Given the description of an element on the screen output the (x, y) to click on. 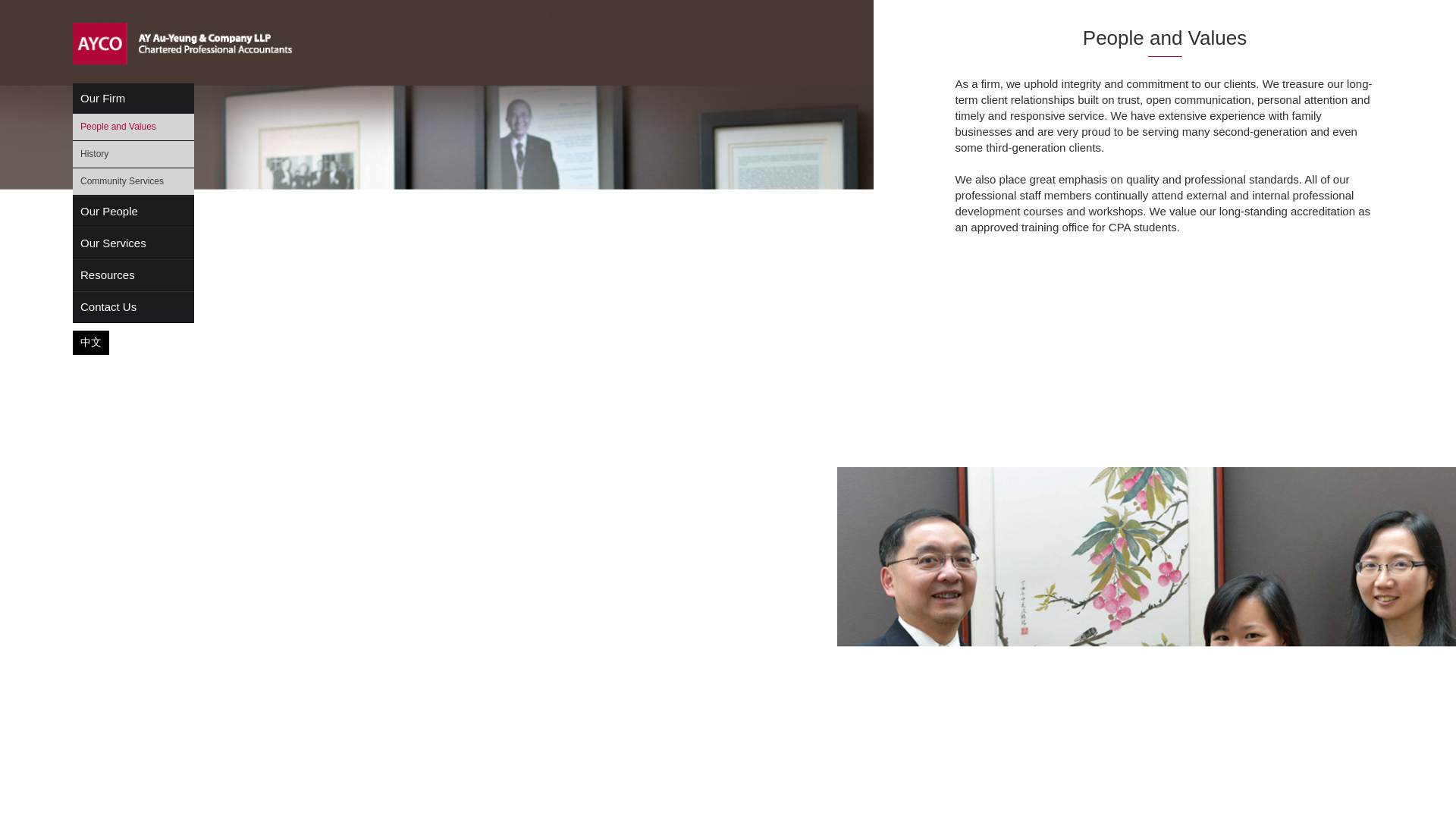
Community Services (132, 180)
History (132, 153)
Resources (132, 275)
Our Firm (132, 98)
Our People (132, 211)
Contact Us (132, 306)
Our Services (132, 243)
People and Values (132, 126)
